Given the description of an element on the screen output the (x, y) to click on. 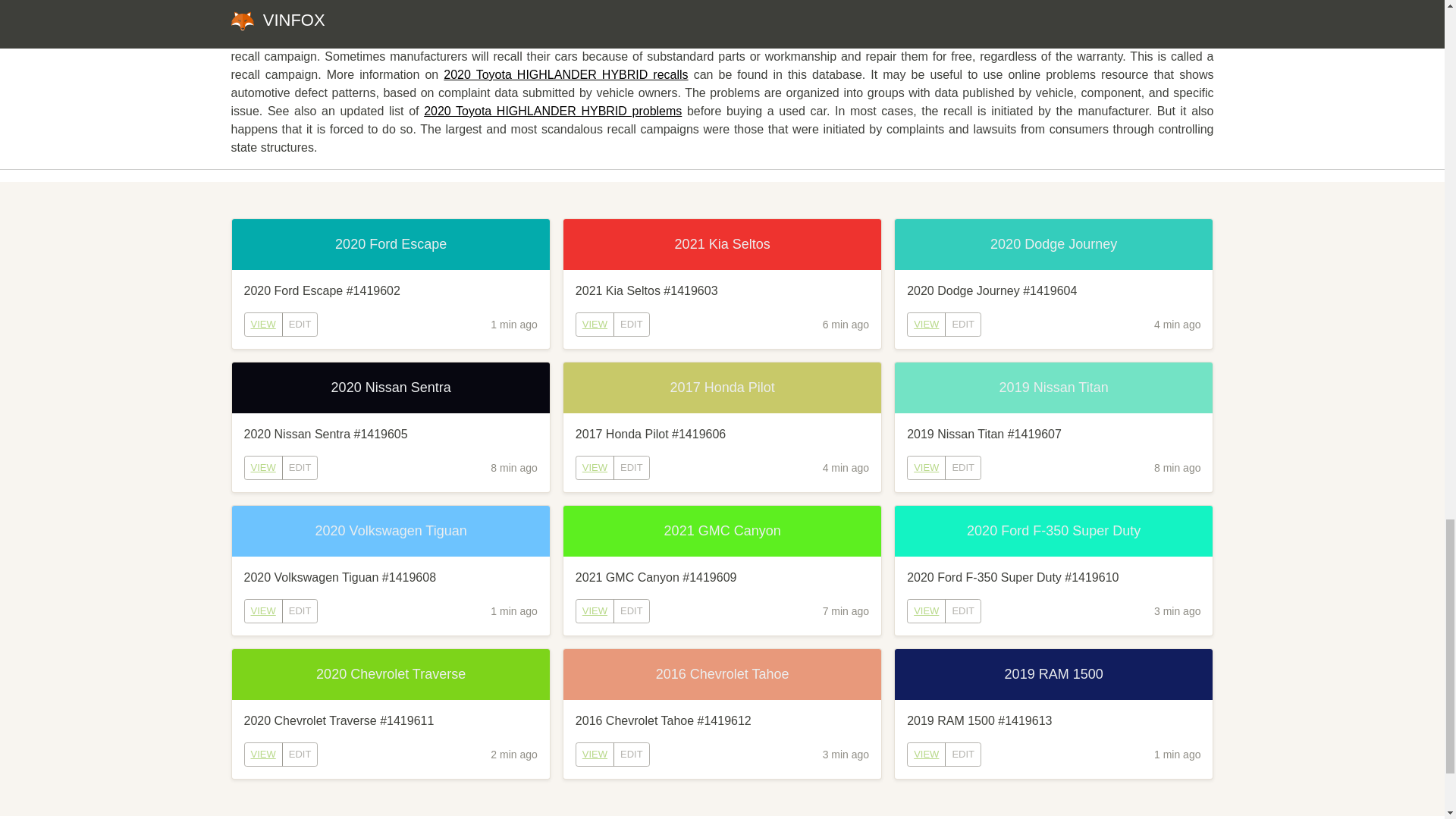
VIEW (594, 467)
VIEW (262, 610)
VIEW (925, 467)
EDIT (630, 324)
EDIT (630, 467)
VIEW (262, 467)
VIEW (263, 754)
EDIT (962, 324)
VIEW (263, 467)
2016 Chevrolet Tahoe (721, 674)
EDIT (300, 467)
EDIT (300, 324)
EDIT (962, 467)
VIEW (925, 610)
2020 Dodge Journey (1053, 244)
